Given the description of an element on the screen output the (x, y) to click on. 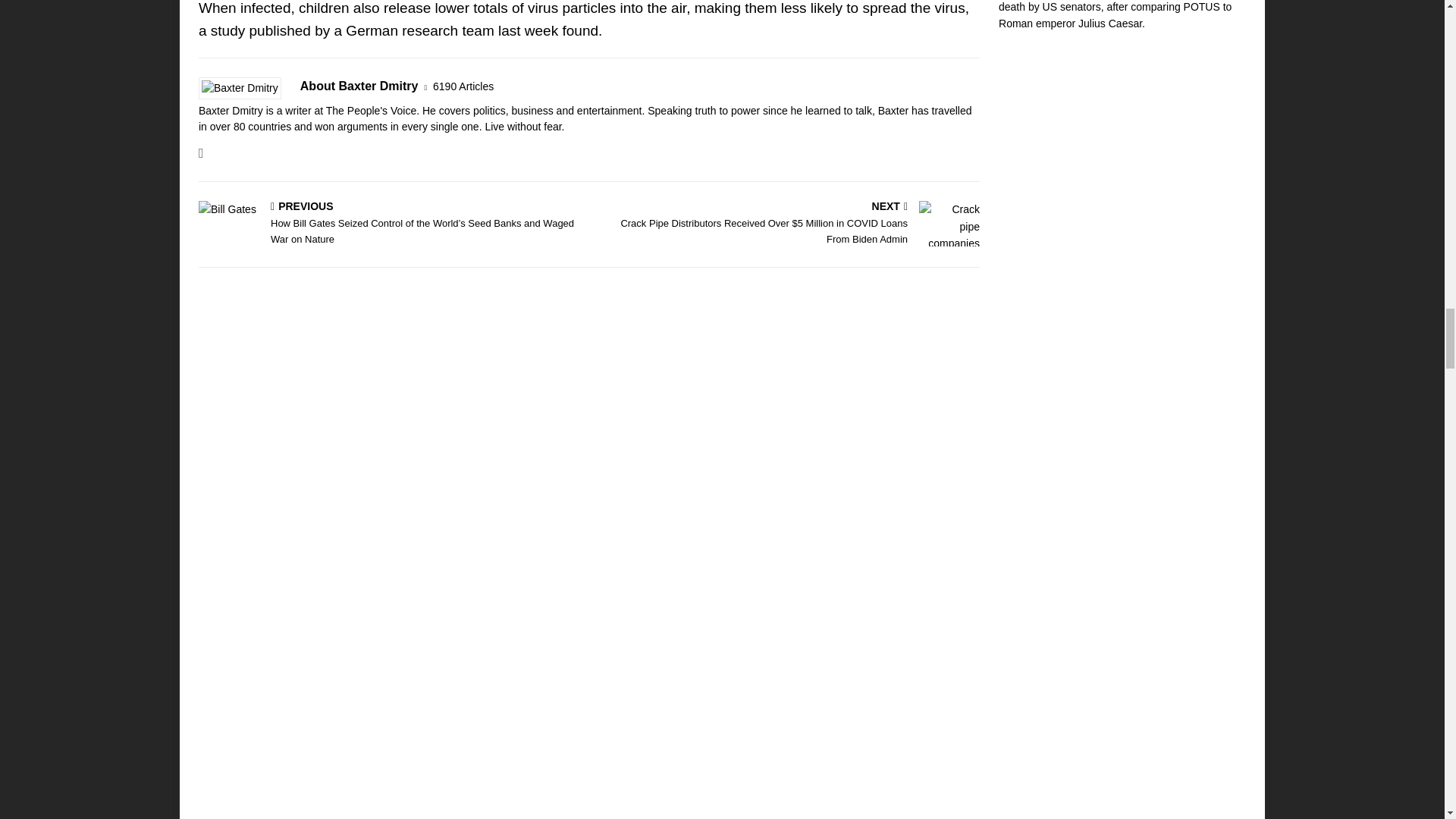
More articles written by Baxter Dmitry' (462, 86)
